Given the description of an element on the screen output the (x, y) to click on. 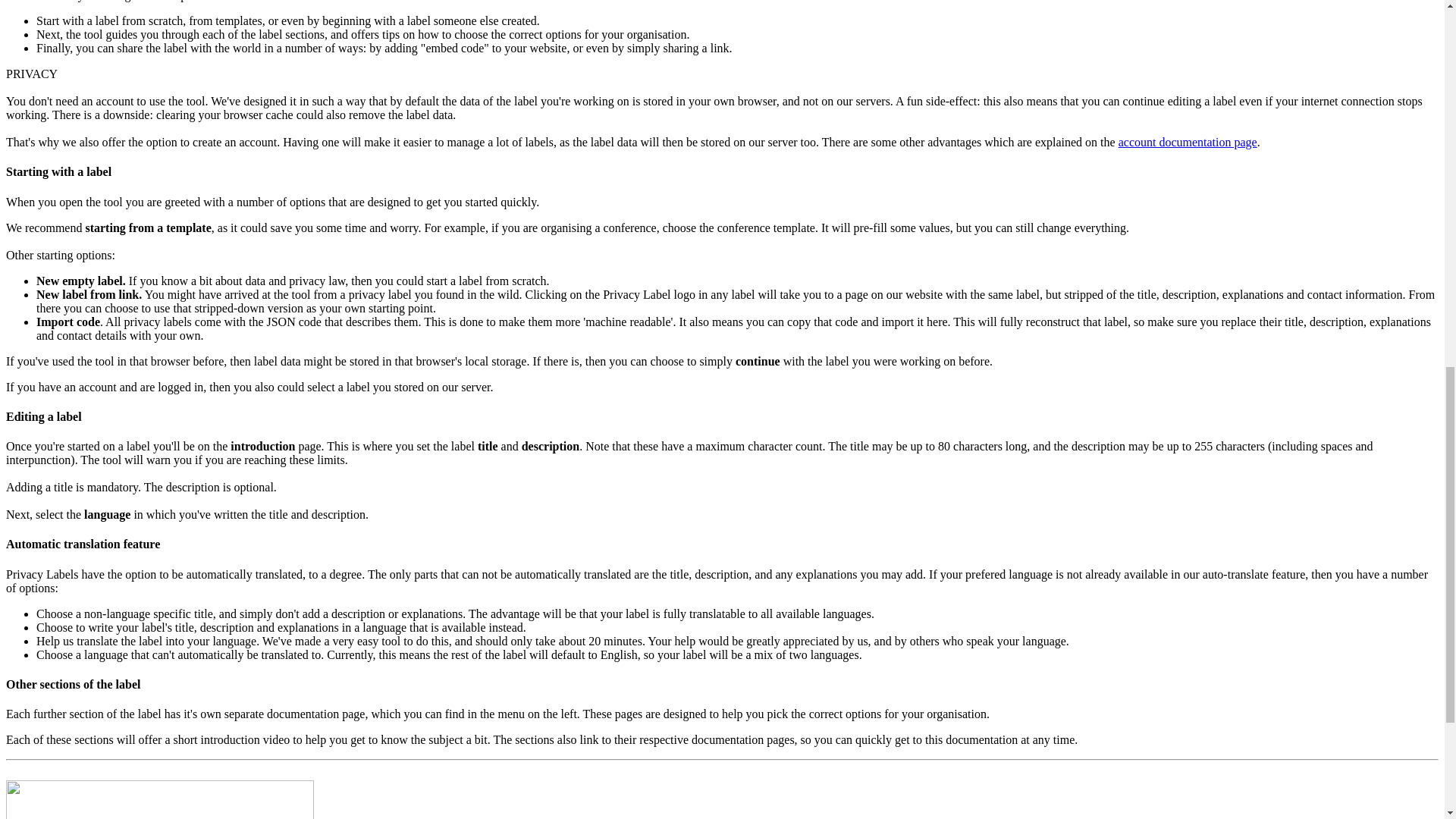
account documentation page (1187, 141)
